Given the description of an element on the screen output the (x, y) to click on. 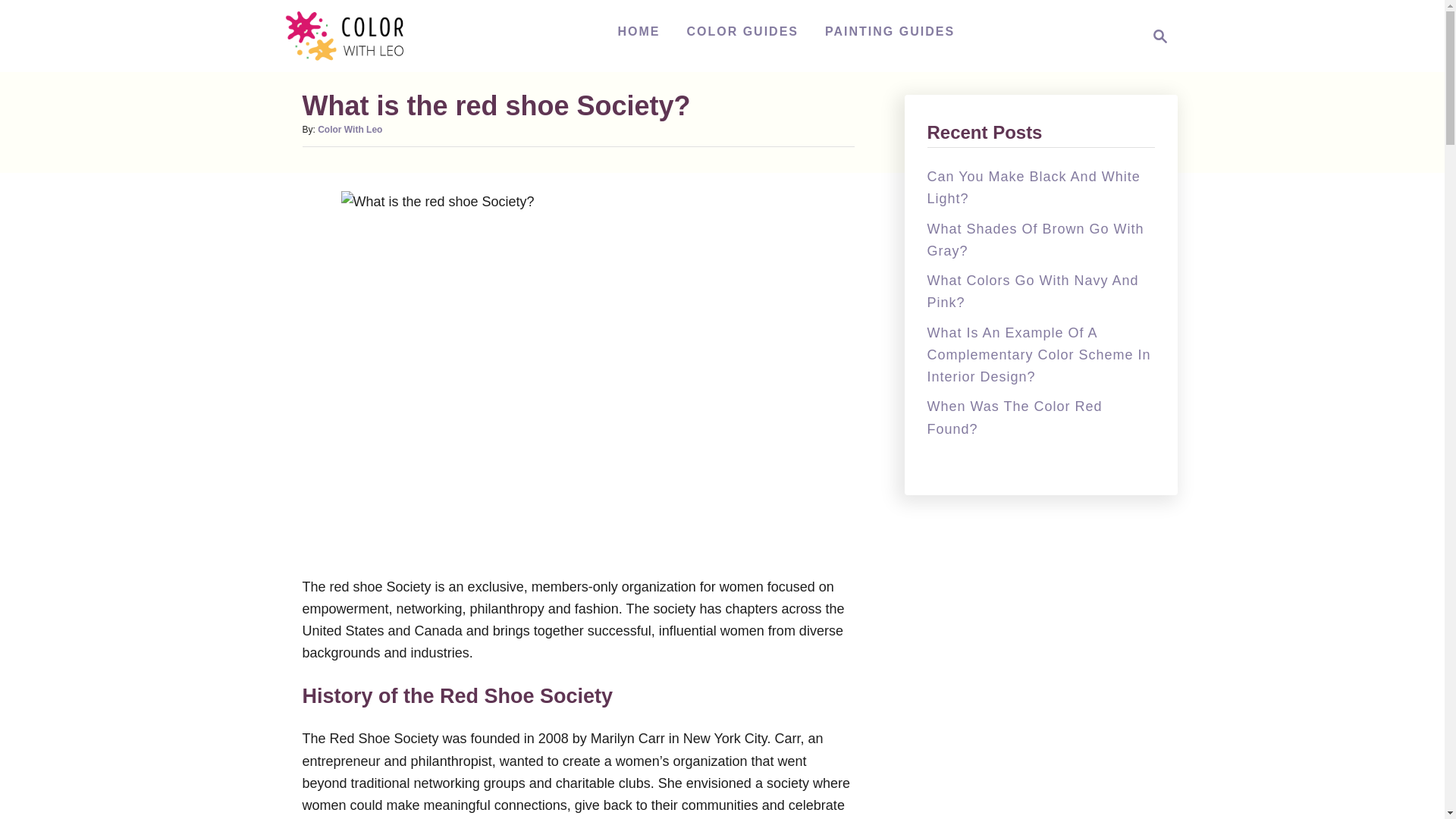
When Was The Color Red Found? (1014, 416)
PAINTING GUIDES (889, 31)
What Colors Go With Navy And Pink? (1155, 36)
Can You Make Black And White Light? (1032, 291)
What Shades Of Brown Go With Gray? (1033, 187)
Color With Leo (1034, 239)
COLOR GUIDES (349, 129)
HOME (742, 31)
